Given the description of an element on the screen output the (x, y) to click on. 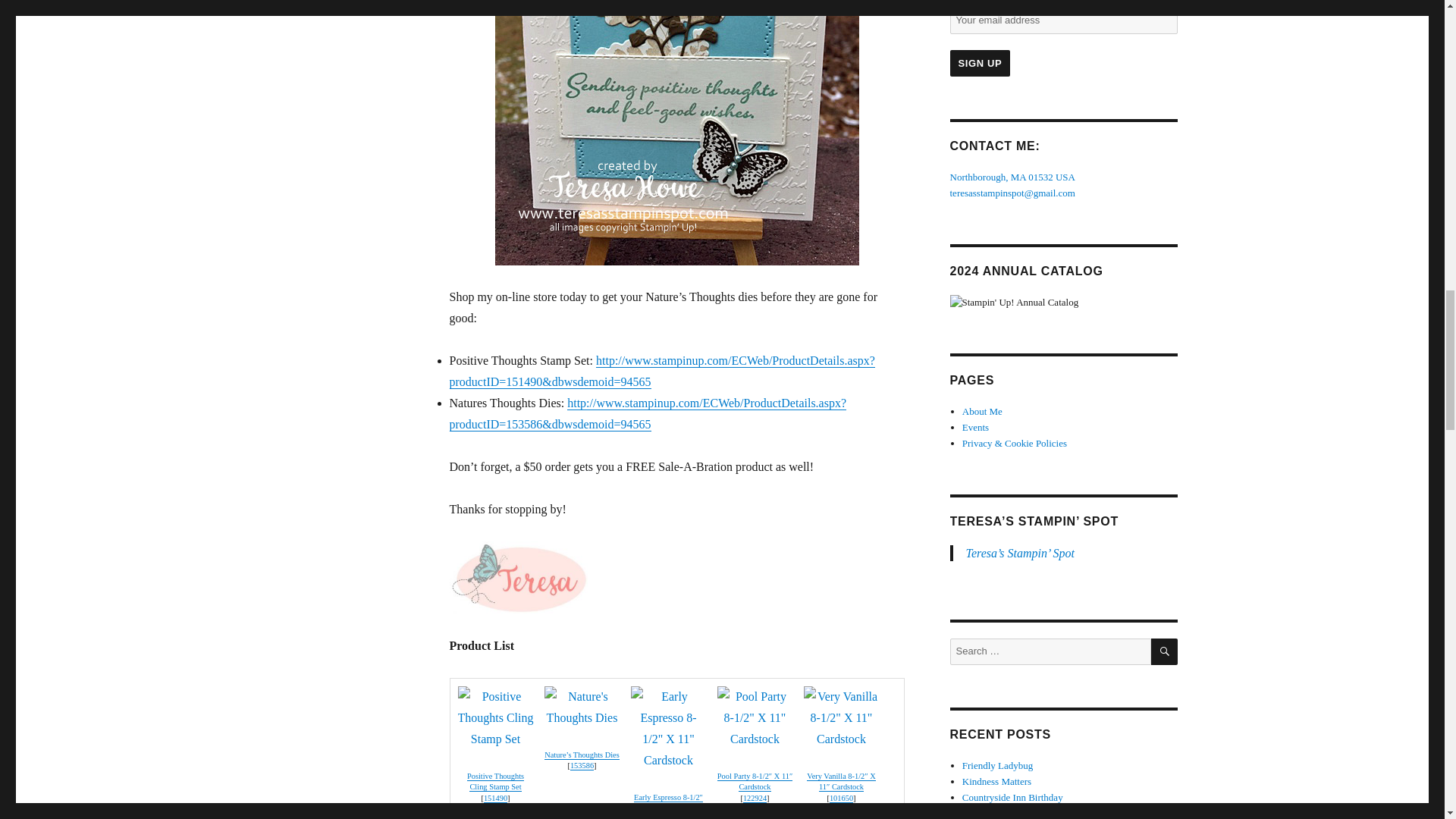
Sign up (979, 62)
153586 (582, 765)
Positive Thoughts Cling Stamp Set (495, 781)
Positive Thoughts Cling Stamp Set (494, 797)
101650 (841, 797)
151490 (494, 797)
Positive Thoughts Cling Stamp Set (495, 781)
Nature's Thoughts Dies (582, 755)
122924 (754, 797)
119686 (667, 816)
